Given the description of an element on the screen output the (x, y) to click on. 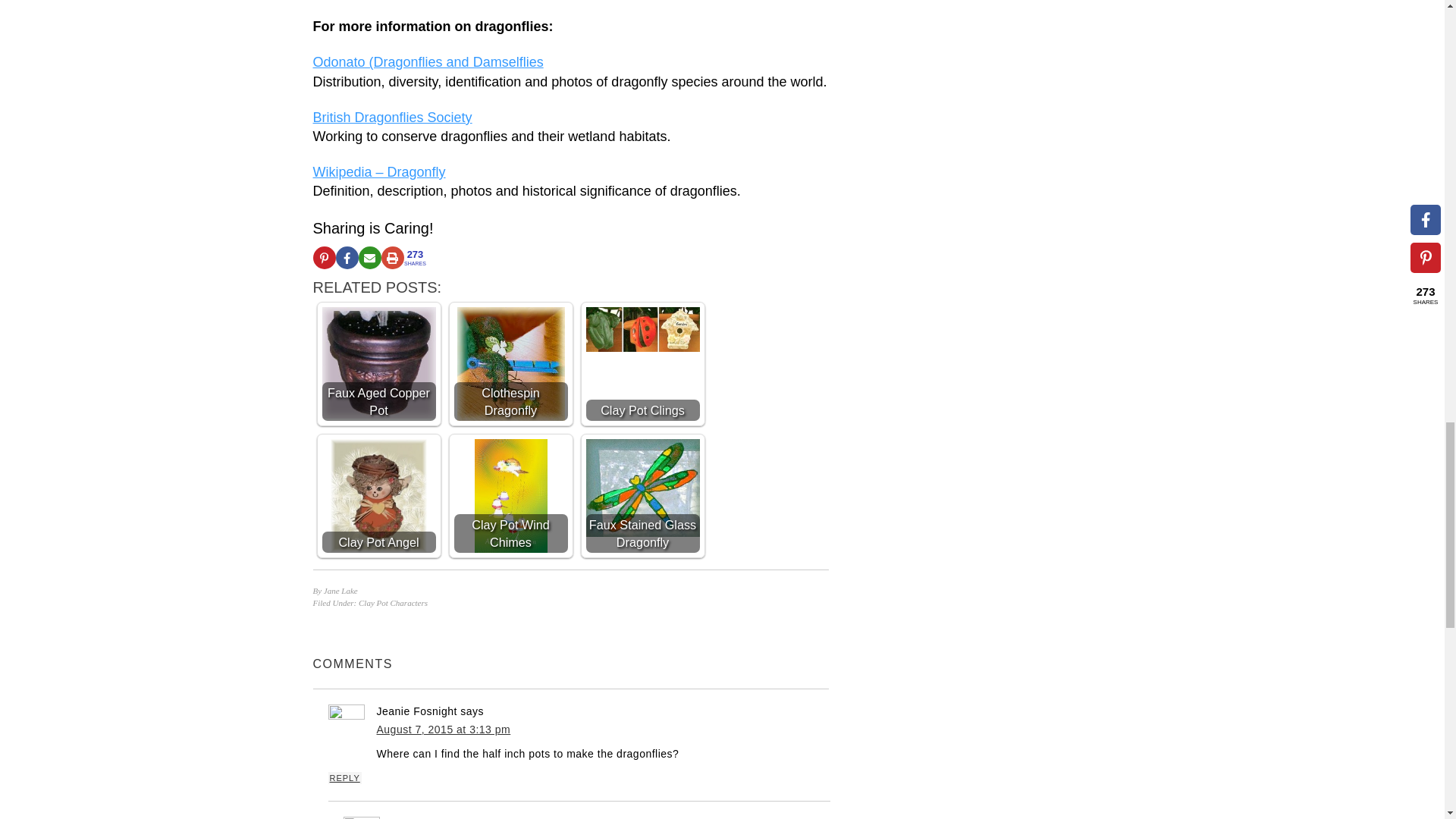
Clothespin Dragonfly (510, 363)
Clay Pot Clings (641, 329)
Faux Stained Glass Dragonfly (641, 487)
Faux Aged Copper Pot (378, 362)
